Given the description of an element on the screen output the (x, y) to click on. 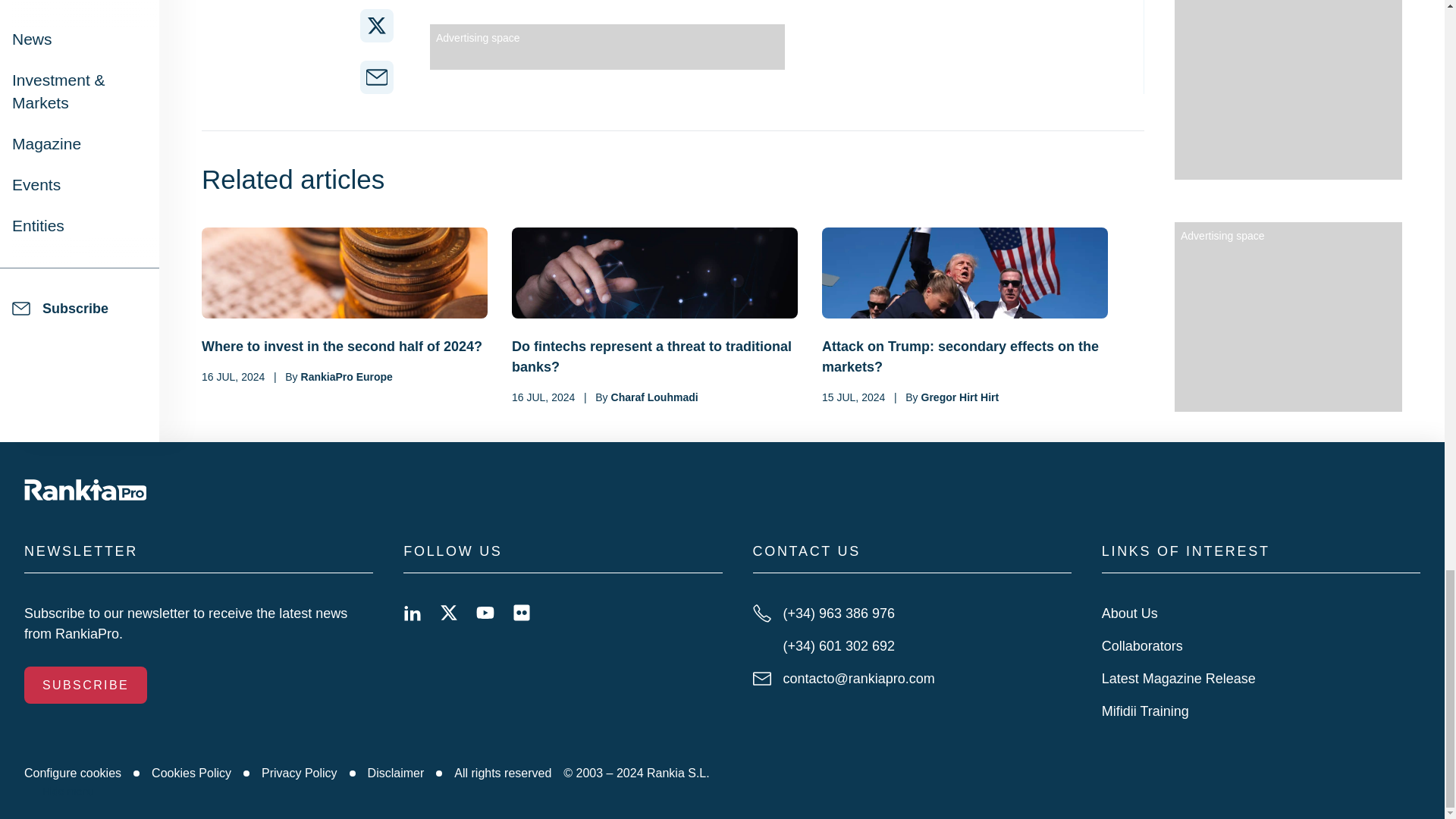
Cookies Policy (191, 773)
Latest Magazine Release (1178, 678)
Cookies Policy (191, 773)
phone (911, 613)
Mifidii Training (1145, 711)
Collaborators (1142, 645)
Where to invest in the second half of 2024? (344, 346)
Attack on Trump: secondary effects on the markets? (965, 356)
Collaborators (1142, 645)
Privacy Policy (299, 773)
Disclaimer (396, 773)
Disclaimer (396, 773)
Do fintechs represent a threat to traditional banks? (654, 356)
SUBSCRIBE (85, 684)
About Us (1129, 613)
